Given the description of an element on the screen output the (x, y) to click on. 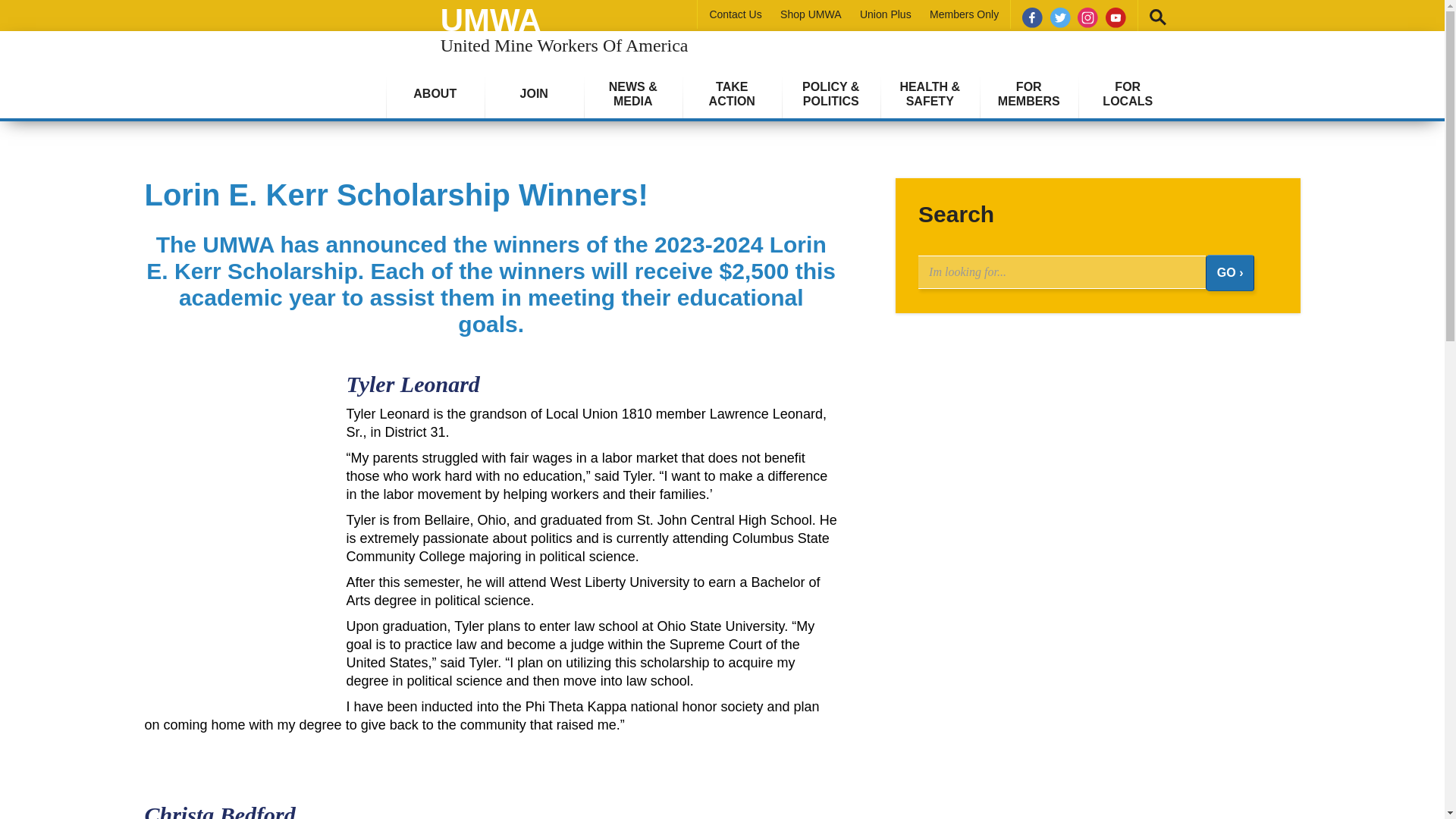
Members Only (964, 14)
ABOUT (435, 93)
Contact Us (735, 14)
Union Plus (325, 50)
Shop UMWA (885, 14)
JOIN (810, 14)
Im looking for... (533, 93)
